Given the description of an element on the screen output the (x, y) to click on. 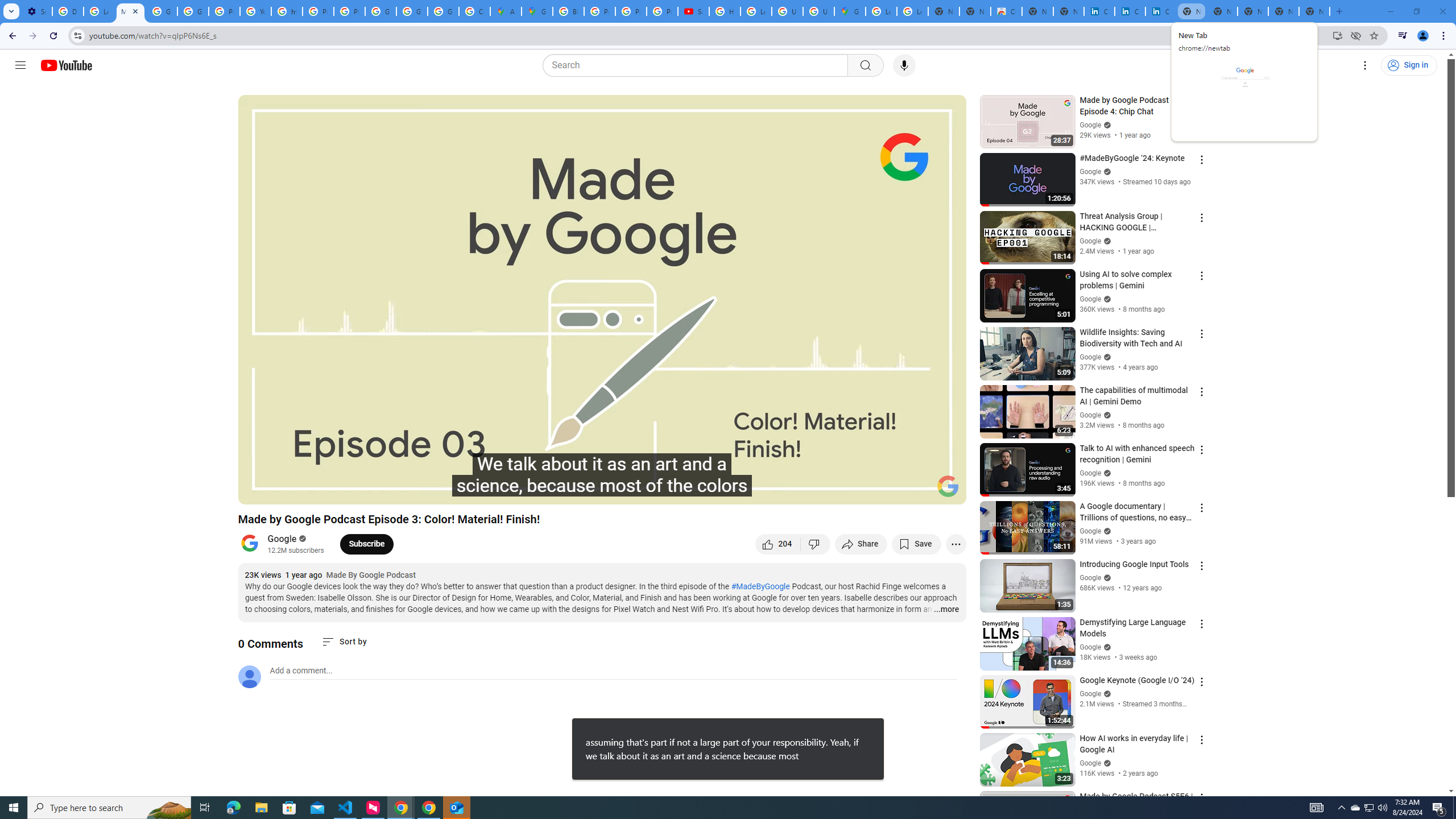
Type here to search (108, 807)
Search highlights icon opens search home window (167, 807)
Start (13, 807)
Notification Chevron (1341, 807)
Chrome Web Store (1005, 11)
Privacy Help Center - Policies Help (318, 11)
